Given the description of an element on the screen output the (x, y) to click on. 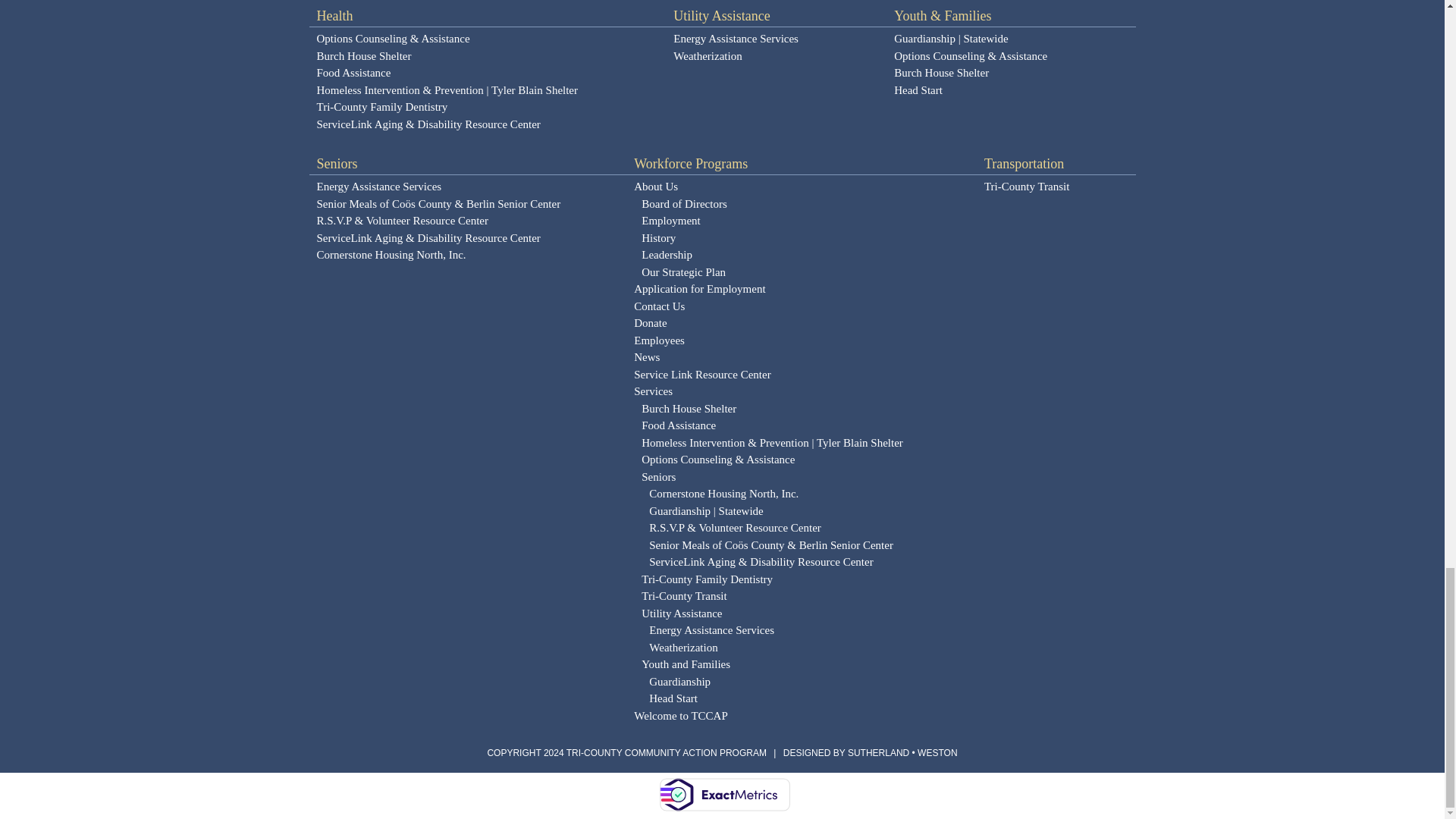
Verified by ExactMetrics (722, 794)
